Given the description of an element on the screen output the (x, y) to click on. 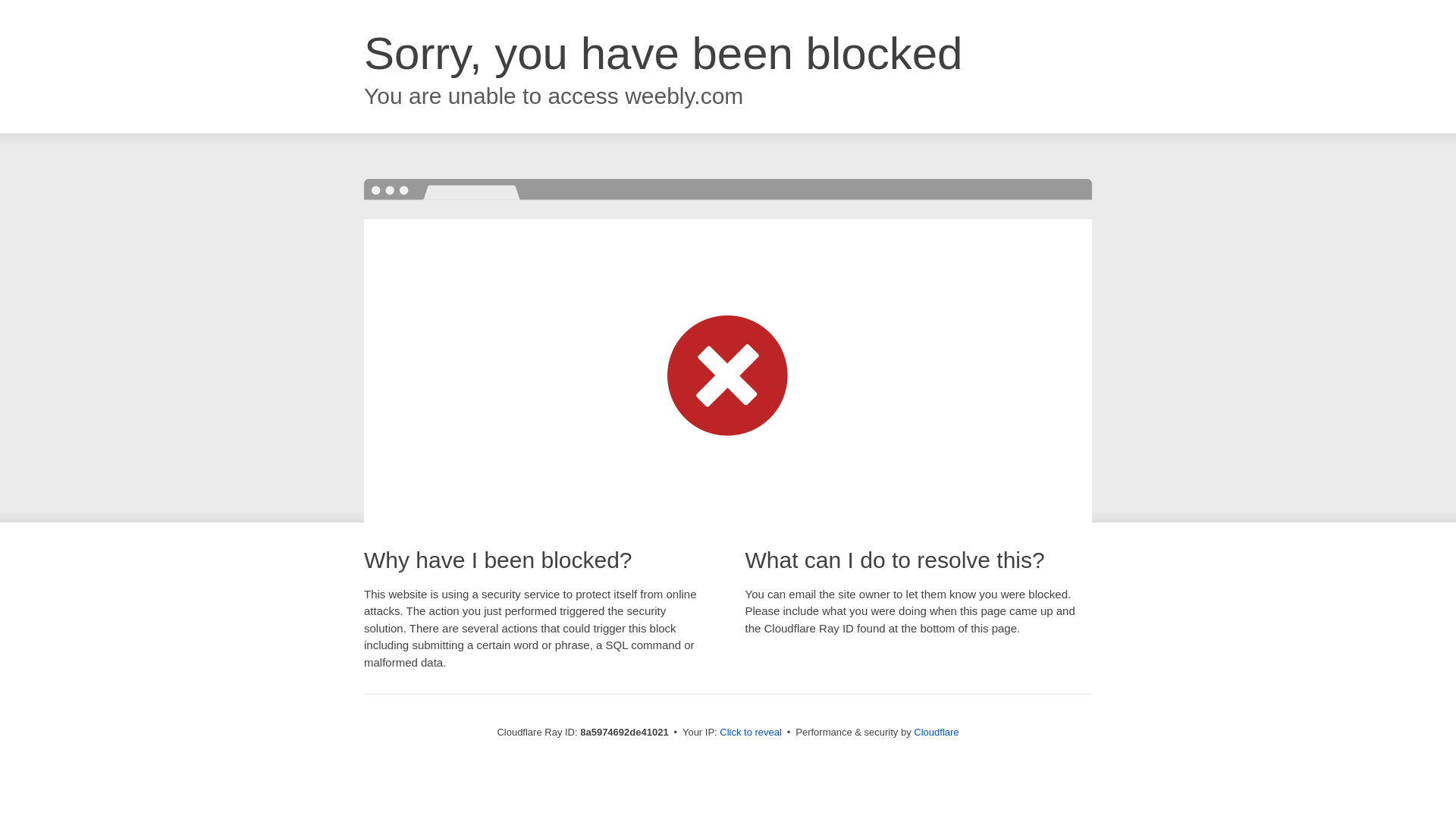
Click to reveal (750, 732)
Cloudflare (936, 731)
